Given the description of an element on the screen output the (x, y) to click on. 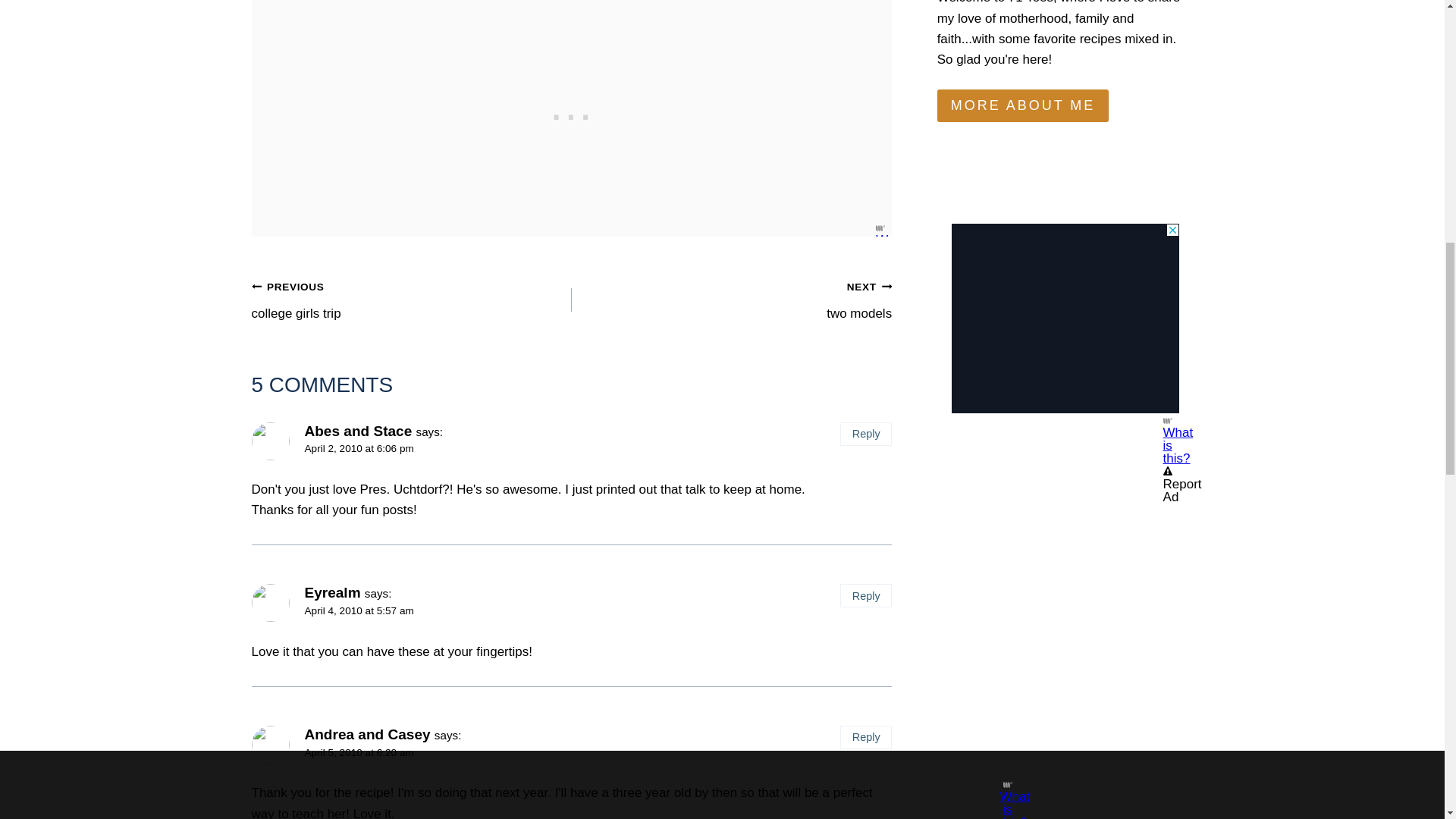
Reply (865, 433)
3rd party ad content (571, 113)
3rd party ad content (411, 299)
Abes and Stace (731, 299)
April 2, 2010 at 6:06 pm (1065, 235)
